Given the description of an element on the screen output the (x, y) to click on. 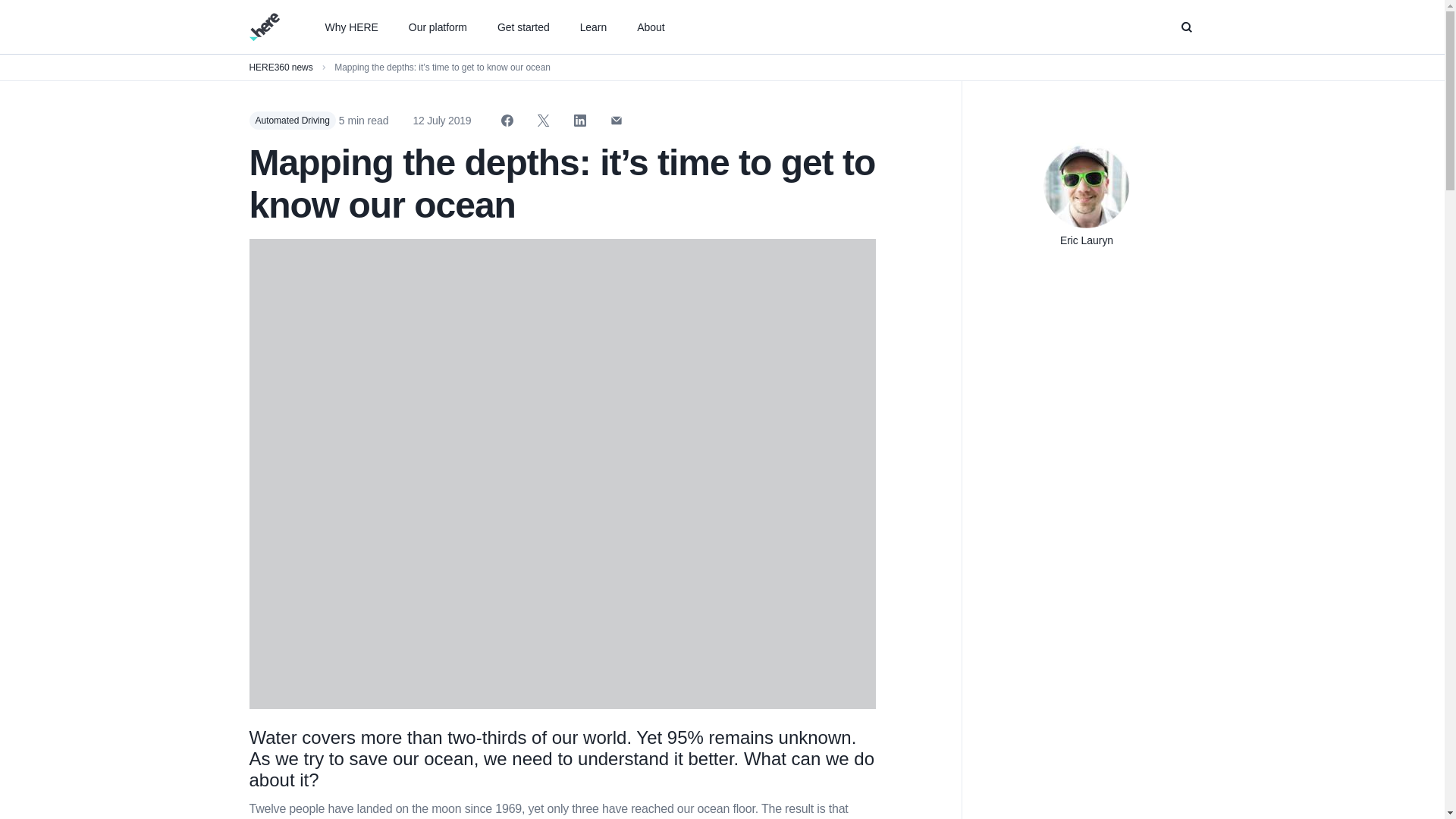
Why HERE (350, 27)
